Given the description of an element on the screen output the (x, y) to click on. 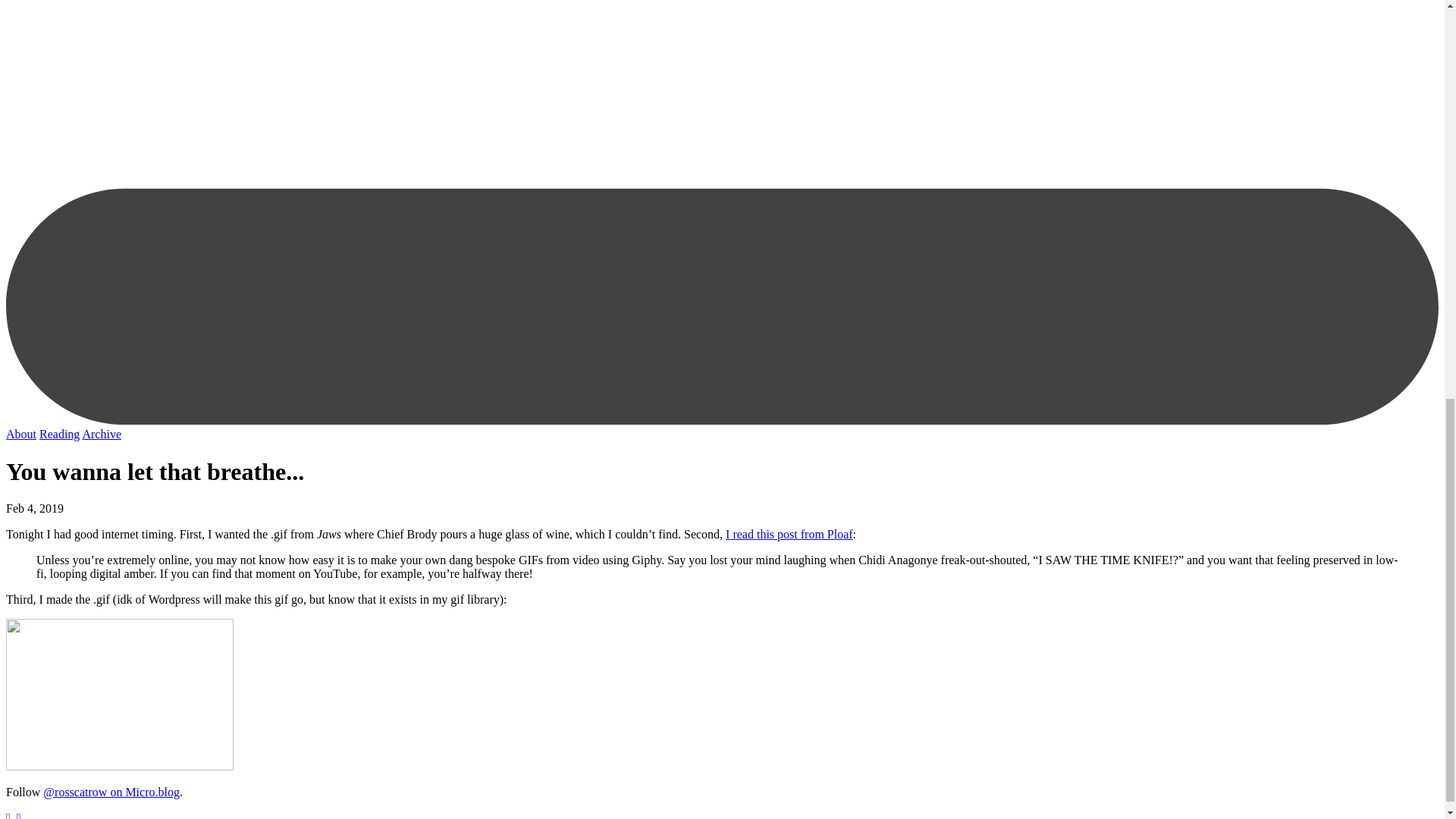
Reading (59, 433)
About (20, 433)
I read this post from Ploaf (789, 533)
Archive (100, 433)
